Given the description of an element on the screen output the (x, y) to click on. 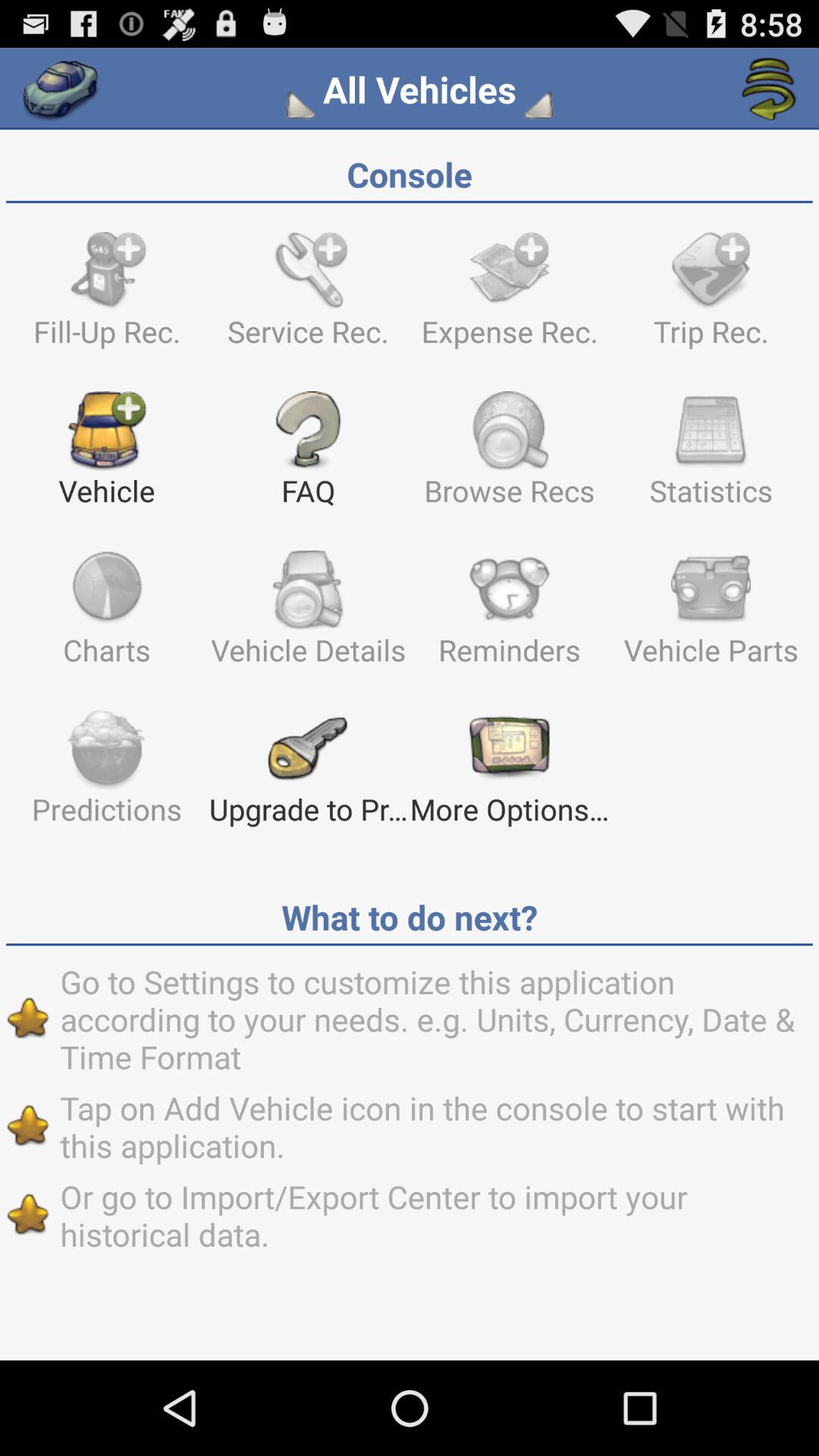
choose item below console (106, 296)
